Given the description of an element on the screen output the (x, y) to click on. 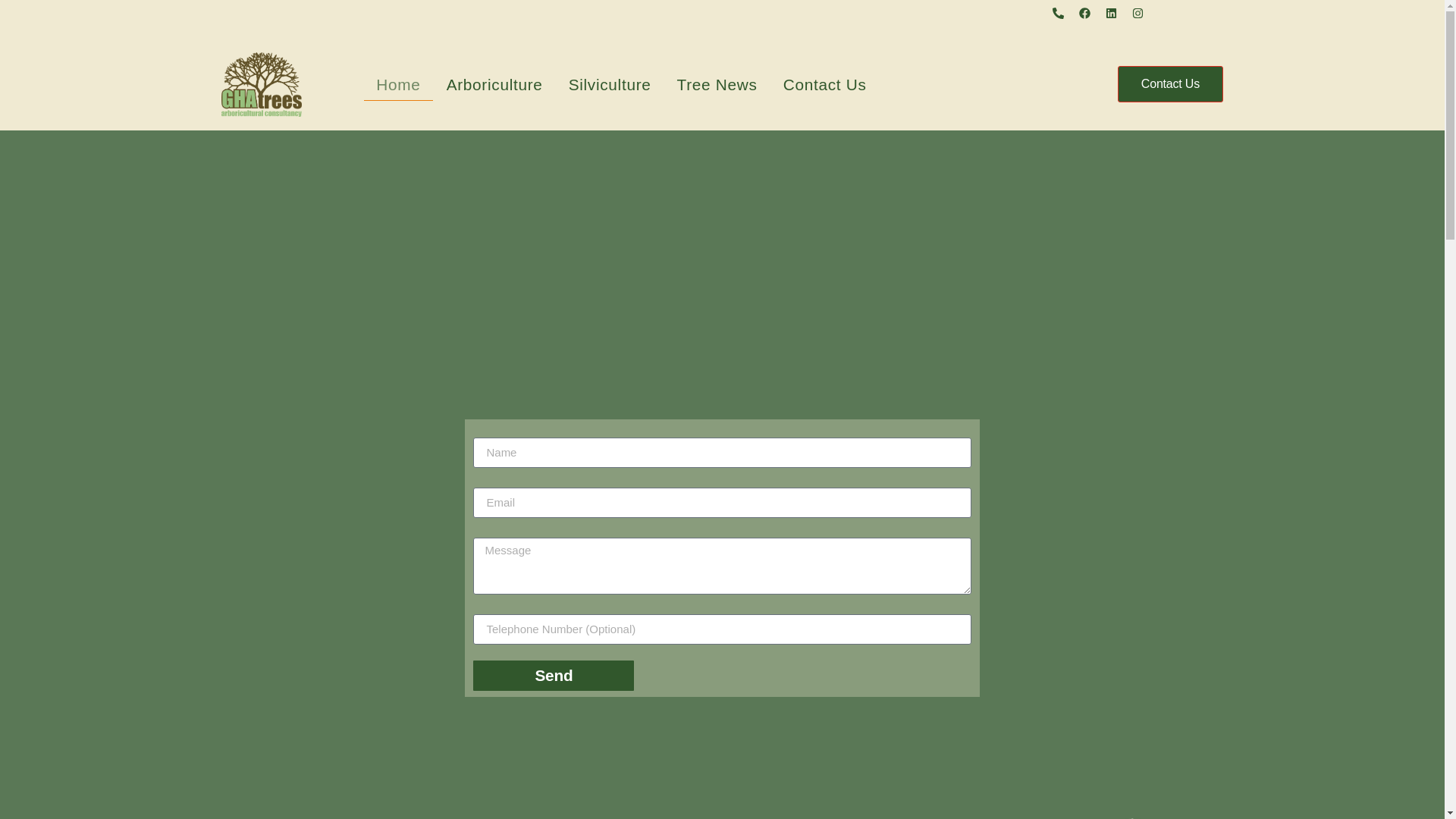
Tree News (717, 83)
Arboriculture (493, 83)
Contact Us (1170, 84)
Silviculture (609, 83)
Contact Us (825, 83)
Send (553, 675)
Home (398, 83)
